Given the description of an element on the screen output the (x, y) to click on. 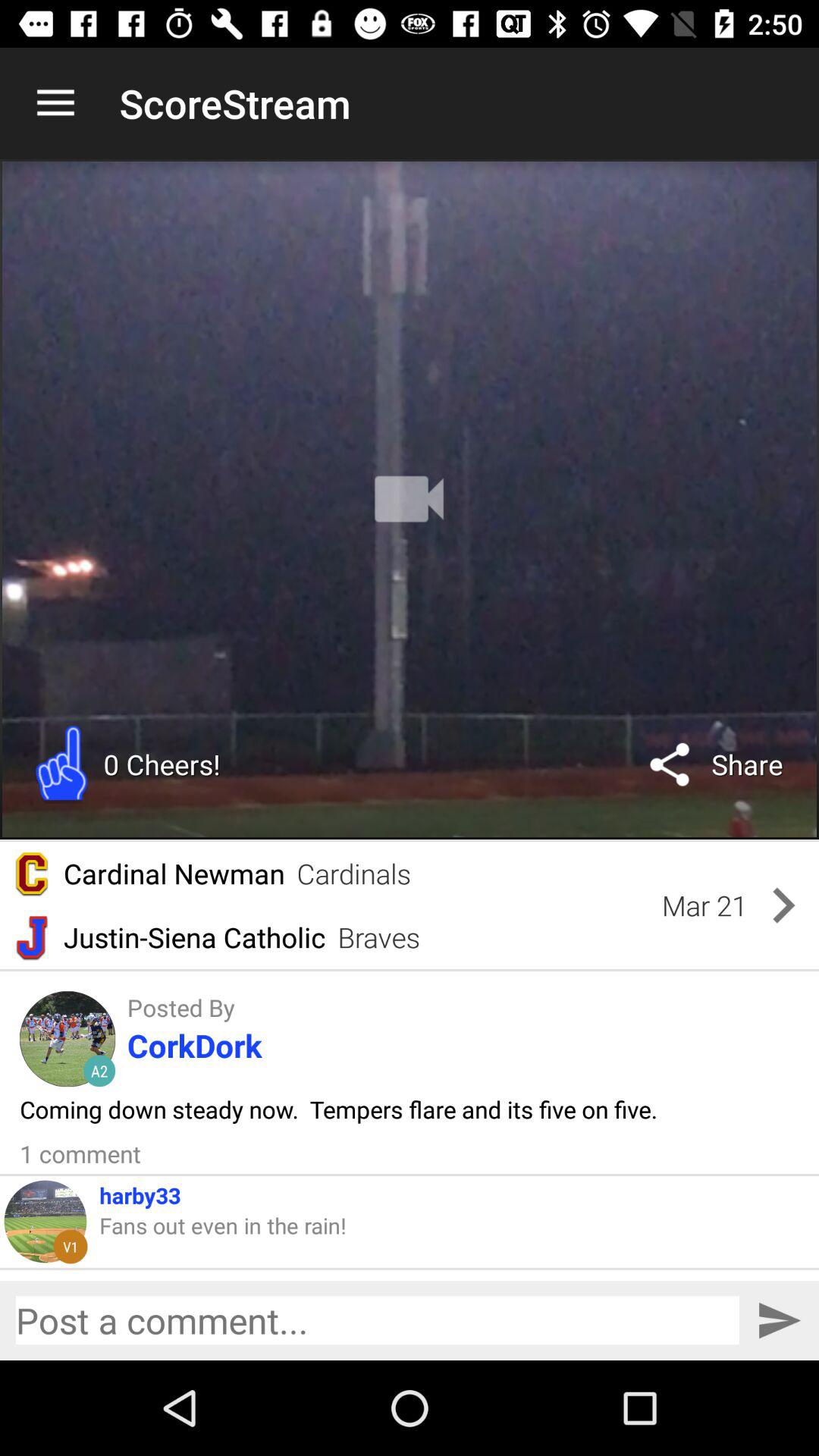
launch the icon next to the scorestream icon (55, 103)
